Given the description of an element on the screen output the (x, y) to click on. 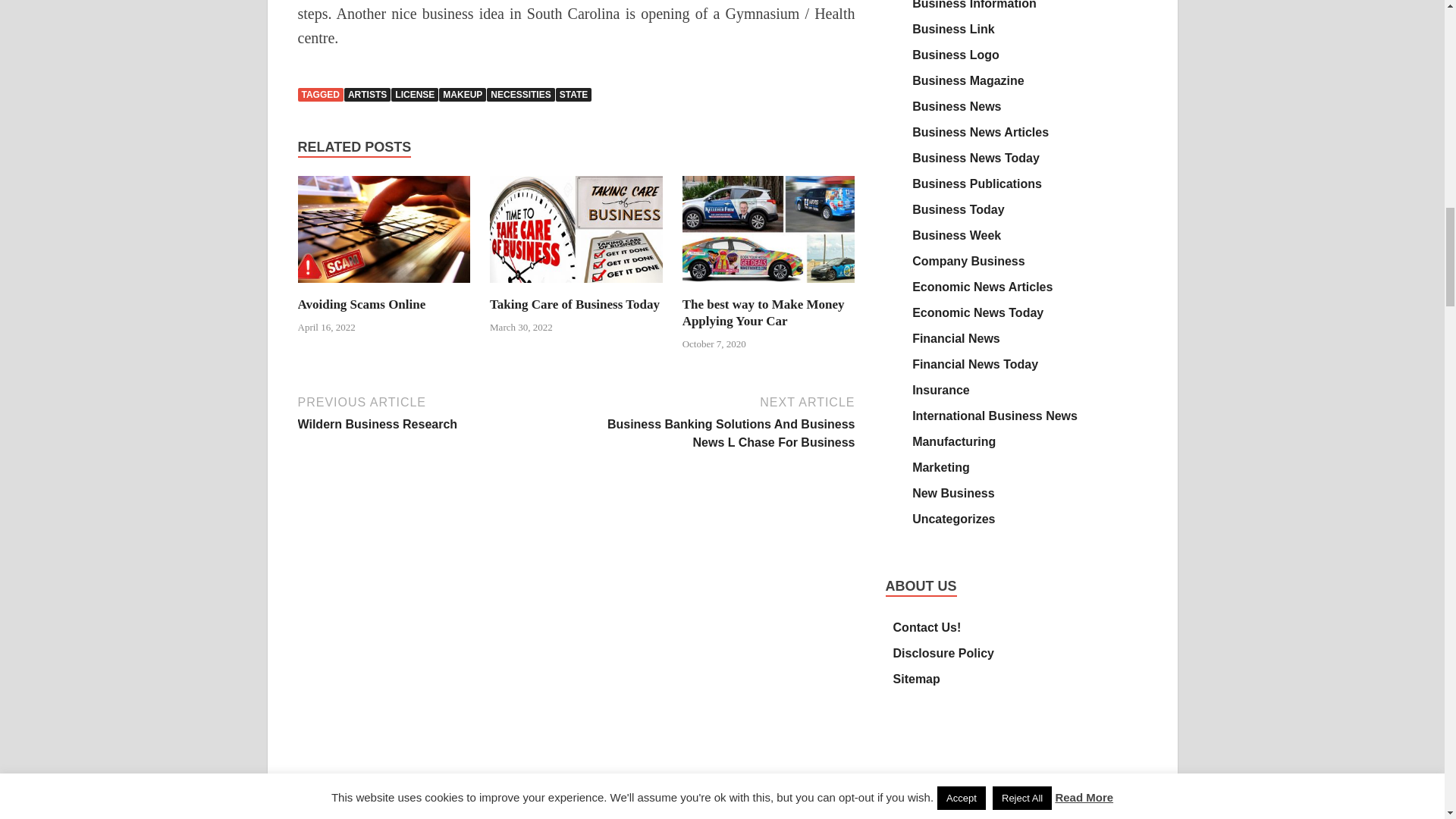
The best way to Make Money Applying Your Car (769, 286)
The best way to Make Money Applying Your Car (763, 312)
Avoiding Scams Online (383, 286)
Taking Care of Business Today (575, 286)
Avoiding Scams Online (361, 304)
Taking Care of Business Today (574, 304)
